Given the description of an element on the screen output the (x, y) to click on. 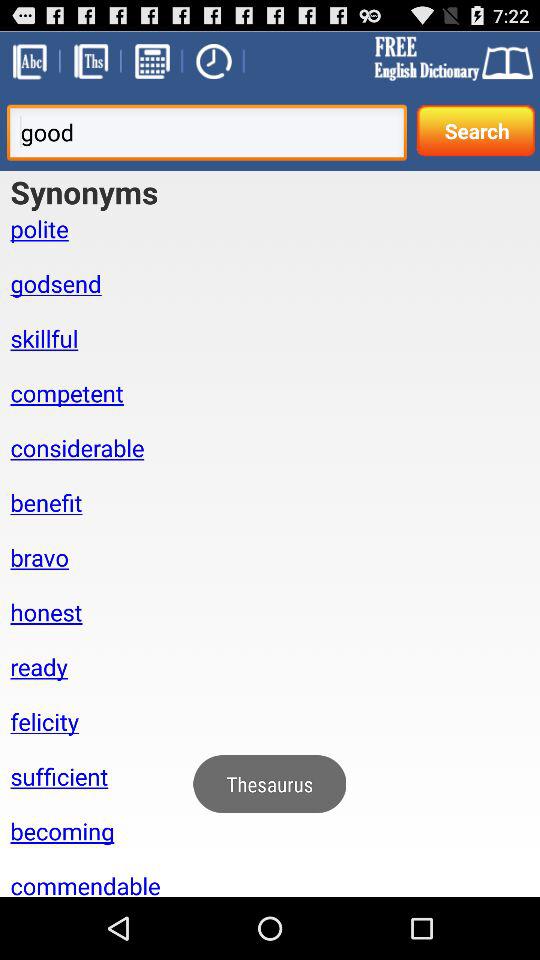
click on search option (475, 129)
